Given the description of an element on the screen output the (x, y) to click on. 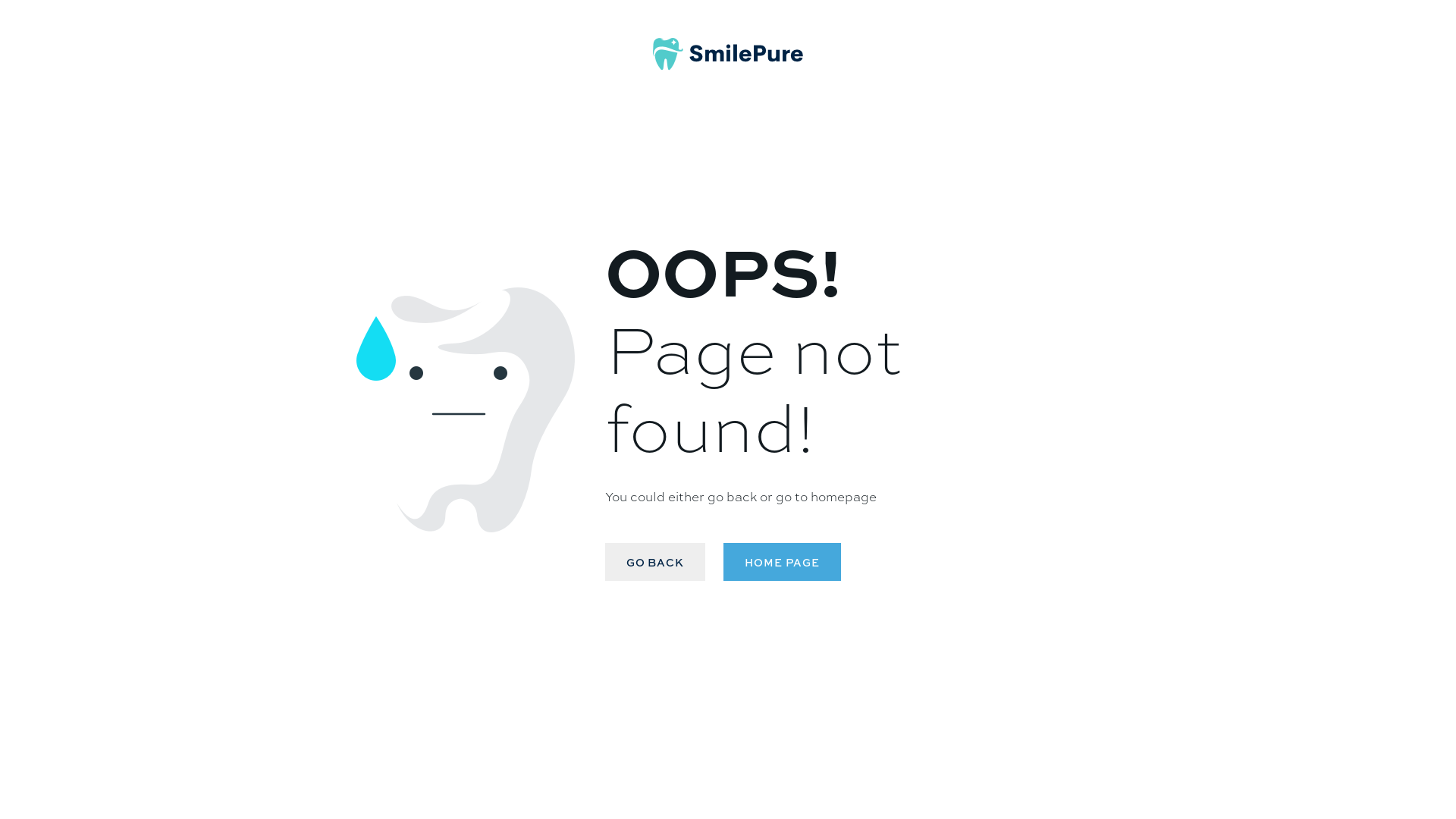
GO BACK Element type: text (655, 561)
HOME PAGE Element type: text (781, 561)
